Given the description of an element on the screen output the (x, y) to click on. 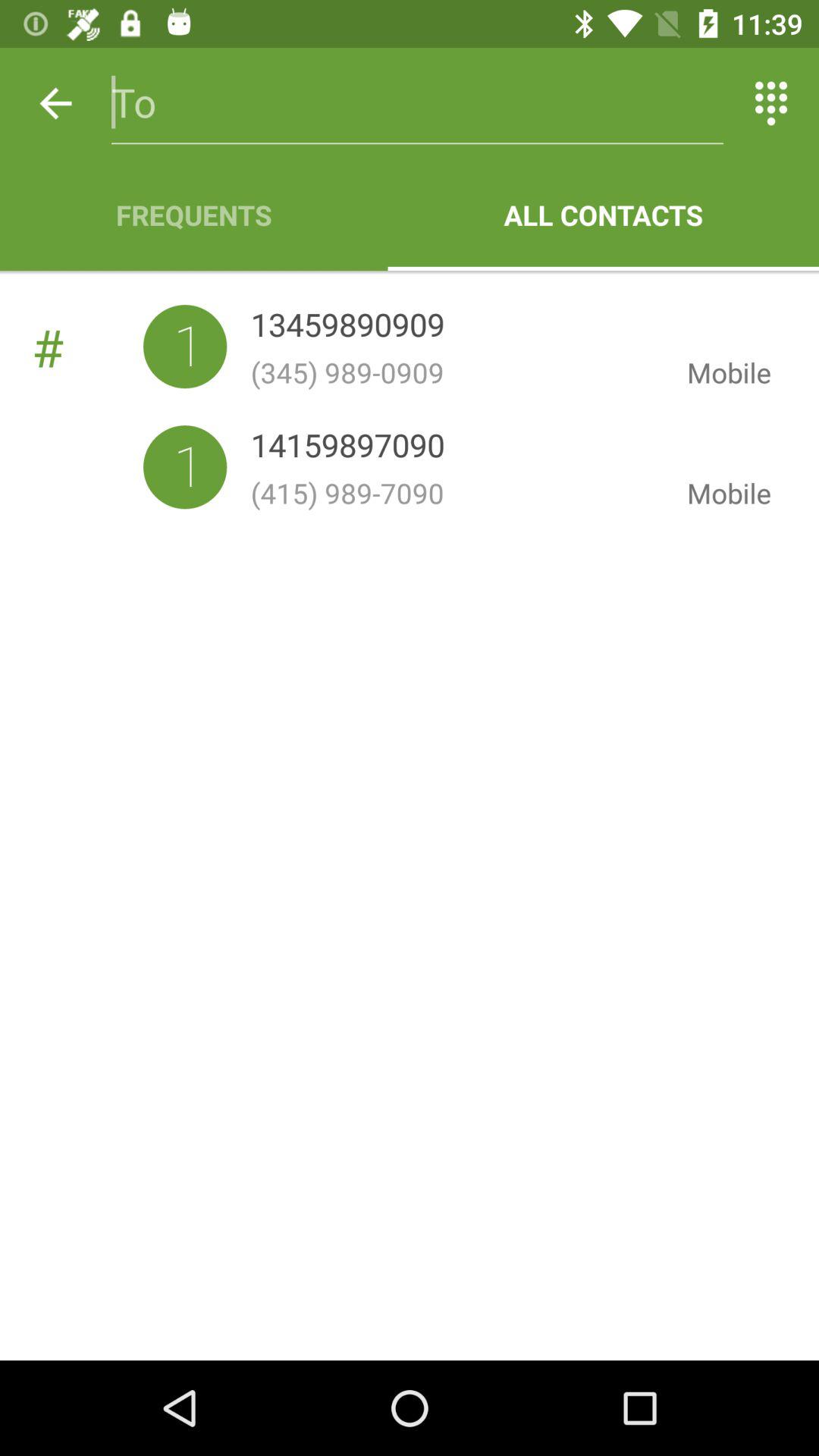
launch icon next to the frequents item (603, 214)
